Given the description of an element on the screen output the (x, y) to click on. 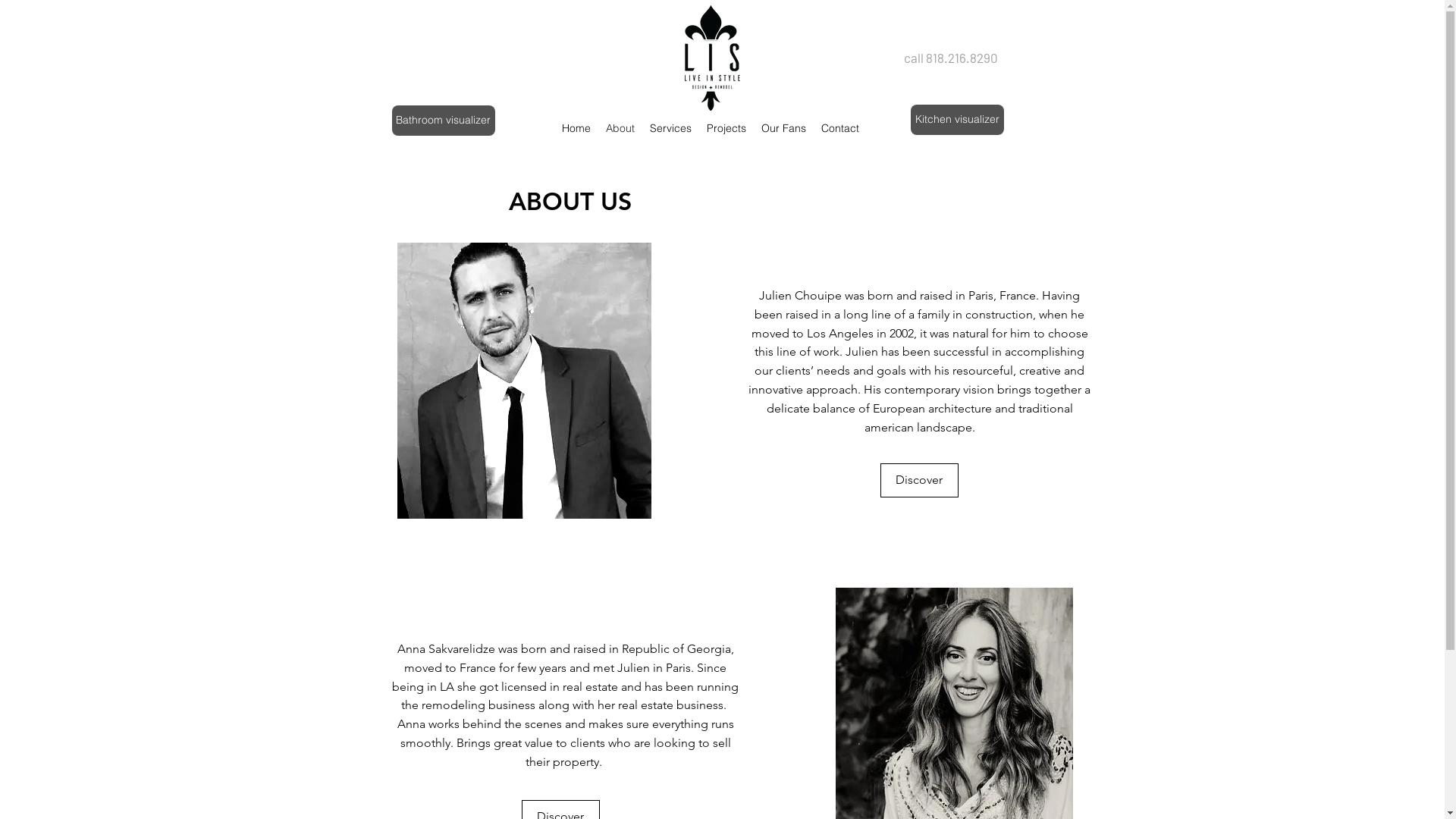
Projects Element type: text (726, 127)
About Element type: text (619, 127)
Our Fans Element type: text (783, 127)
Home Element type: text (575, 127)
Contact Element type: text (839, 127)
Services Element type: text (669, 127)
Bathroom visualizer Element type: text (442, 120)
Discover Element type: text (918, 480)
Kitchen visualizer Element type: text (956, 119)
